Given the description of an element on the screen output the (x, y) to click on. 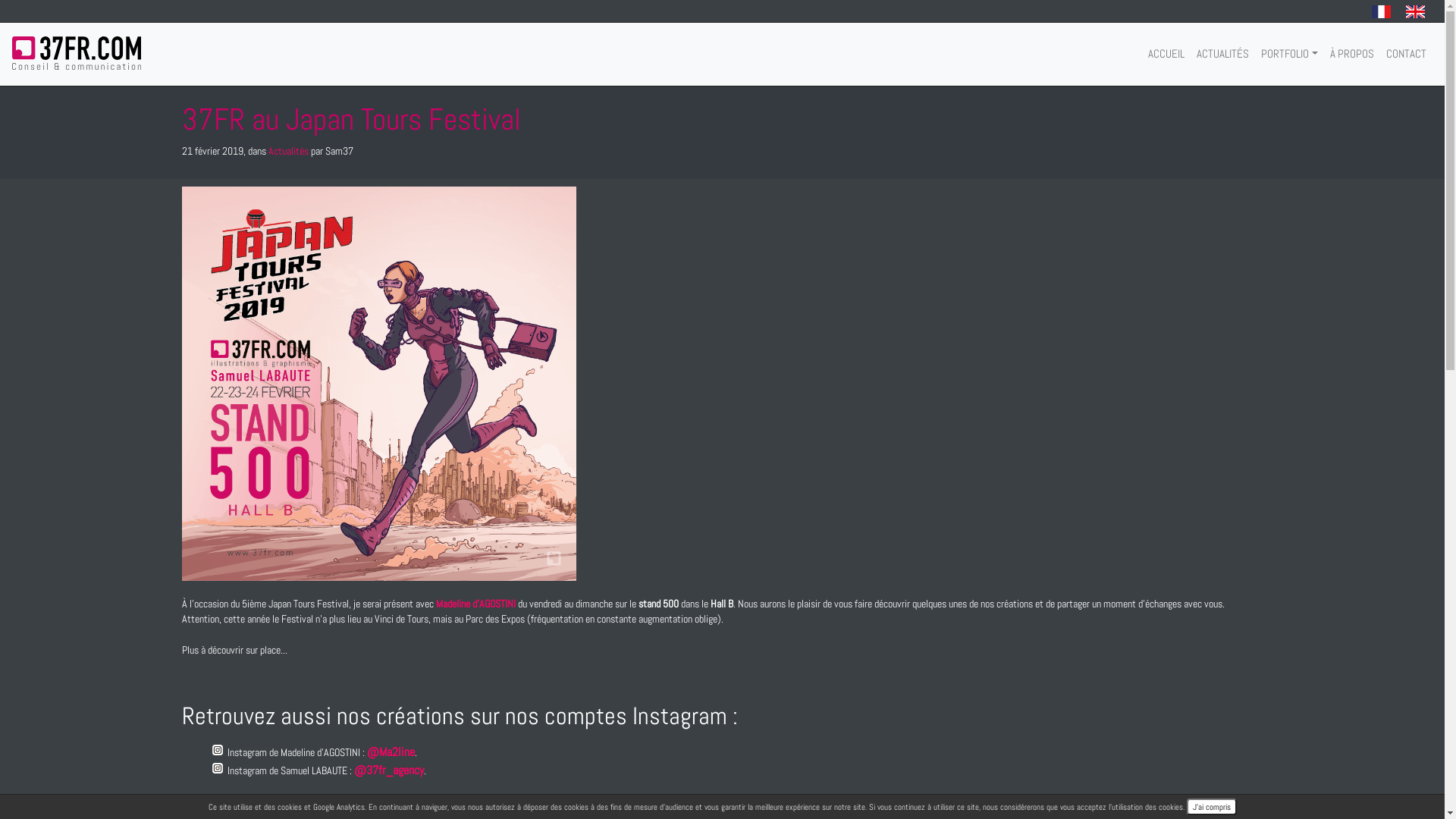
Madeline d'AGOSTINI Element type: text (475, 603)
Japan Tours Festival 2019 Element type: hover (379, 383)
FR Element type: hover (1380, 11)
PORTFOLIO Element type: text (1289, 53)
@Ma2line Element type: text (390, 751)
J'ai compris Element type: text (1211, 806)
CONTACT Element type: text (1406, 53)
@37fr_agency Element type: text (388, 770)
EN Element type: hover (1414, 11)
Samuel LABAUTE - 37FR.COM Element type: text (590, 809)
ACCUEIL Element type: text (1166, 53)
Samuel LABAUTE - 37FR.COM Conseil & communication Element type: hover (76, 52)
